Given the description of an element on the screen output the (x, y) to click on. 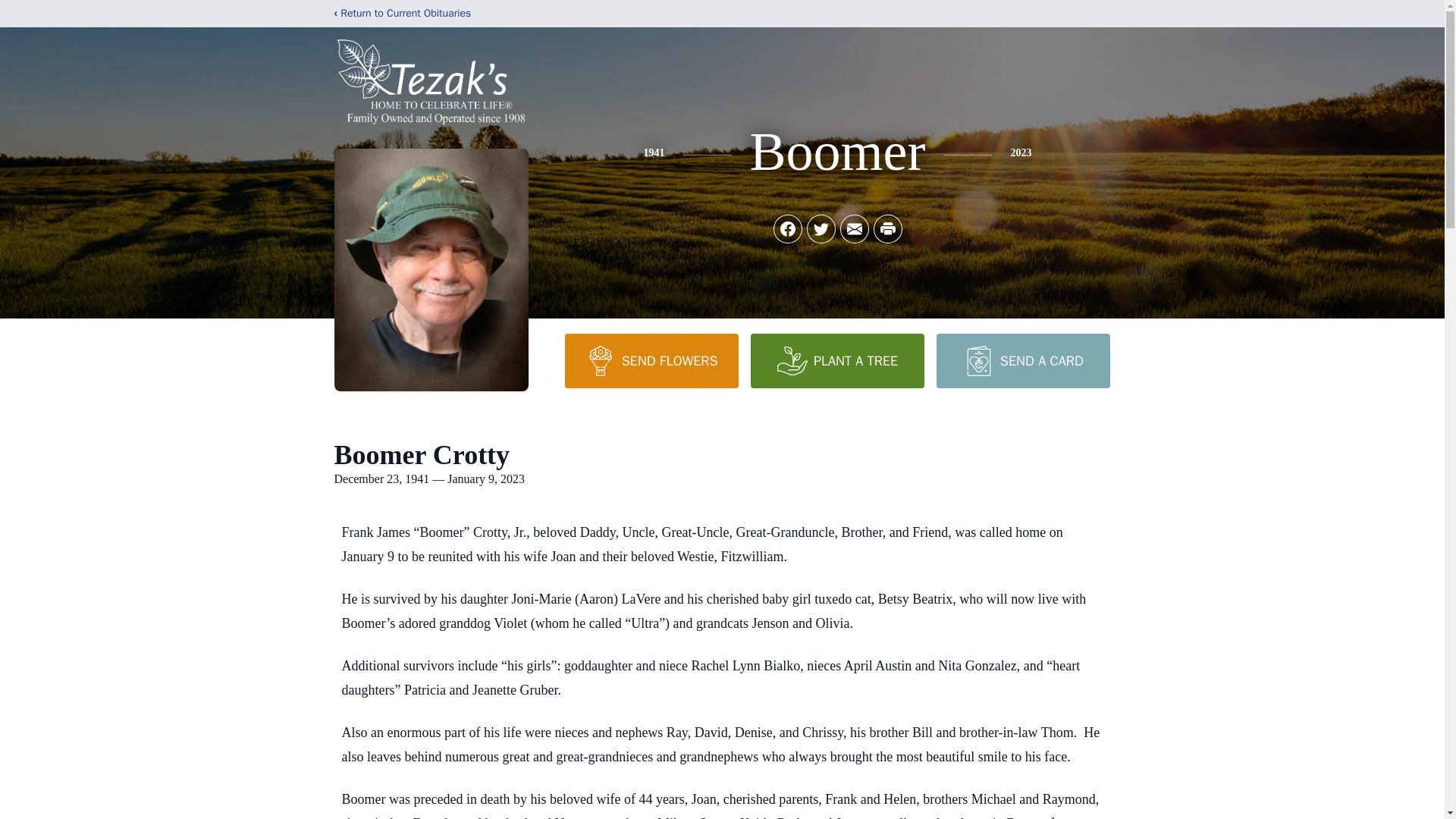
SEND FLOWERS (651, 360)
SEND A CARD (1022, 360)
PLANT A TREE (837, 360)
